Given the description of an element on the screen output the (x, y) to click on. 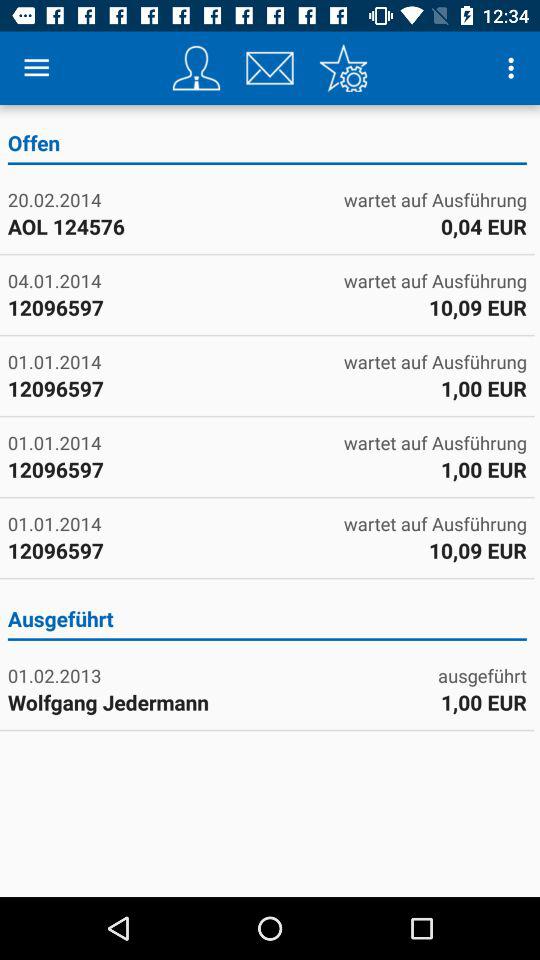
launch icon to the right of 20.02.2014 icon (483, 226)
